Given the description of an element on the screen output the (x, y) to click on. 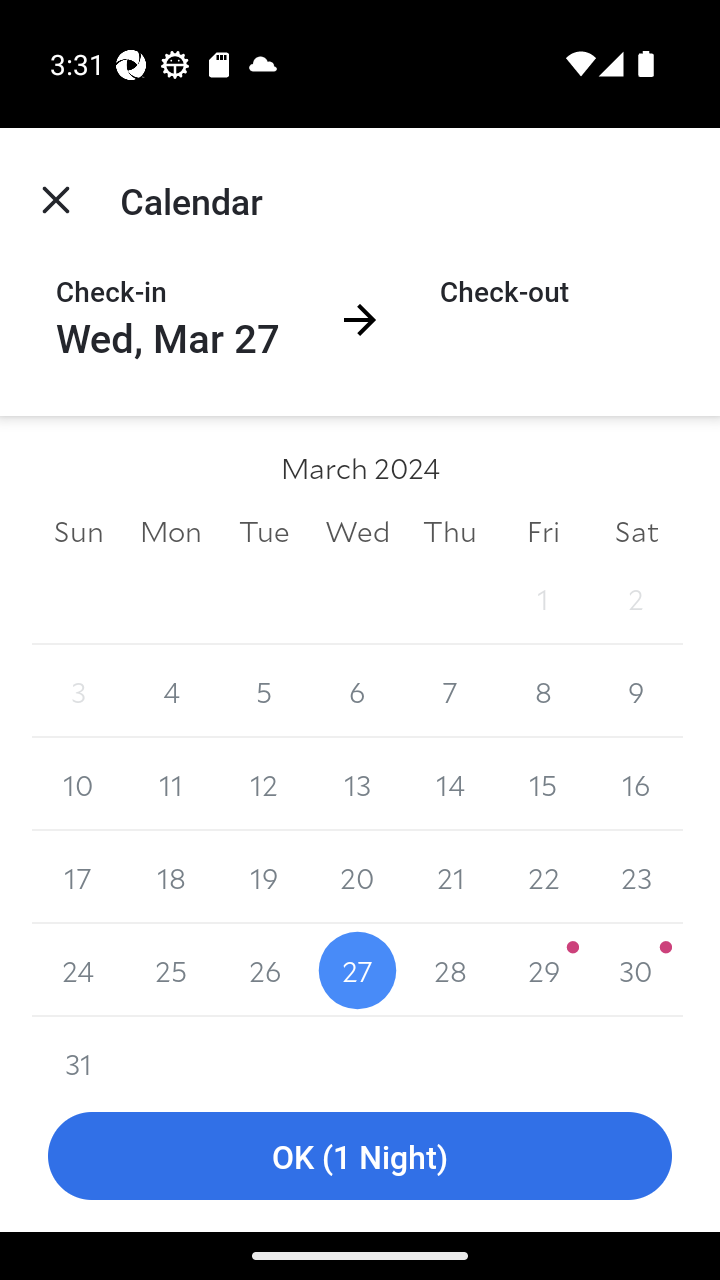
Sun (78, 530)
Mon (171, 530)
Tue (264, 530)
Wed (357, 530)
Thu (449, 530)
Fri (542, 530)
Sat (636, 530)
1 1 March 2024 (542, 598)
2 2 March 2024 (636, 598)
3 3 March 2024 (78, 691)
4 4 March 2024 (171, 691)
5 5 March 2024 (264, 691)
6 6 March 2024 (357, 691)
7 7 March 2024 (449, 691)
8 8 March 2024 (542, 691)
9 9 March 2024 (636, 691)
10 10 March 2024 (78, 784)
11 11 March 2024 (171, 784)
12 12 March 2024 (264, 784)
13 13 March 2024 (357, 784)
14 14 March 2024 (449, 784)
15 15 March 2024 (542, 784)
16 16 March 2024 (636, 784)
17 17 March 2024 (78, 877)
18 18 March 2024 (171, 877)
19 19 March 2024 (264, 877)
20 20 March 2024 (357, 877)
21 21 March 2024 (449, 877)
22 22 March 2024 (542, 877)
23 23 March 2024 (636, 877)
24 24 March 2024 (78, 970)
25 25 March 2024 (171, 970)
26 26 March 2024 (264, 970)
27 27 March 2024 (357, 970)
28 28 March 2024 (449, 970)
29 29 March 2024 (542, 970)
30 30 March 2024 (636, 970)
31 31 March 2024 (78, 1048)
OK (1 Night) (359, 1156)
